Given the description of an element on the screen output the (x, y) to click on. 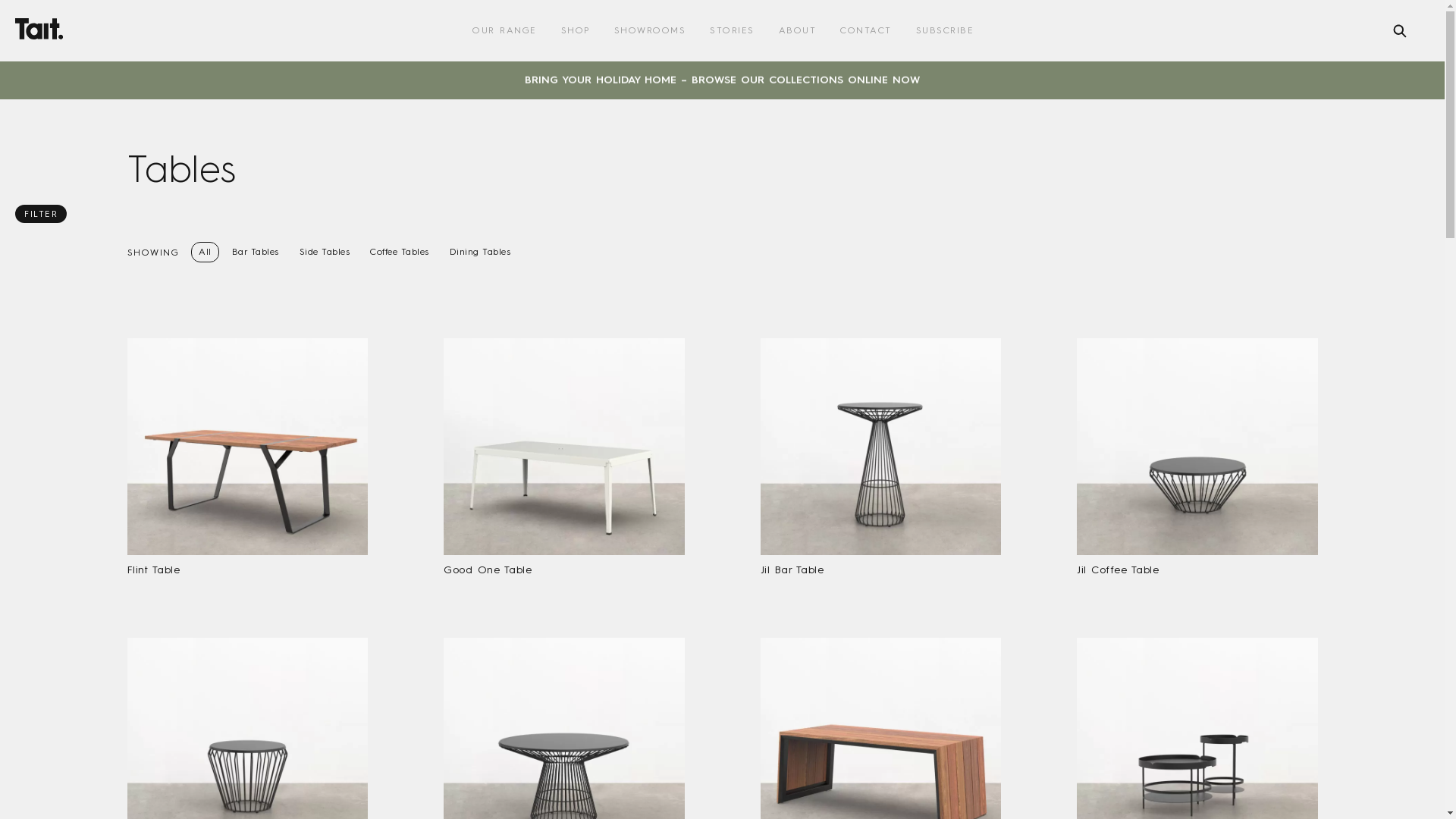
Coffee Tables Element type: text (399, 251)
Good One Table Element type: text (563, 461)
FILTER Element type: text (40, 213)
Jil Bar Table Element type: text (880, 461)
SHOP Element type: text (575, 30)
Jil Coffee Table Element type: text (1196, 461)
SUBSCRIBE Element type: text (945, 30)
SHOWROOMS Element type: text (650, 30)
Side Tables Element type: text (324, 251)
OUR RANGE Element type: text (504, 30)
Tables Element type: text (722, 169)
Dining Tables Element type: text (480, 251)
Skip to content Element type: text (0, 0)
CONTACT Element type: text (865, 30)
Bar Tables Element type: text (255, 251)
All Element type: text (205, 251)
Flint Table Element type: text (247, 461)
ABOUT Element type: text (796, 30)
STORIES Element type: text (731, 30)
